Given the description of an element on the screen output the (x, y) to click on. 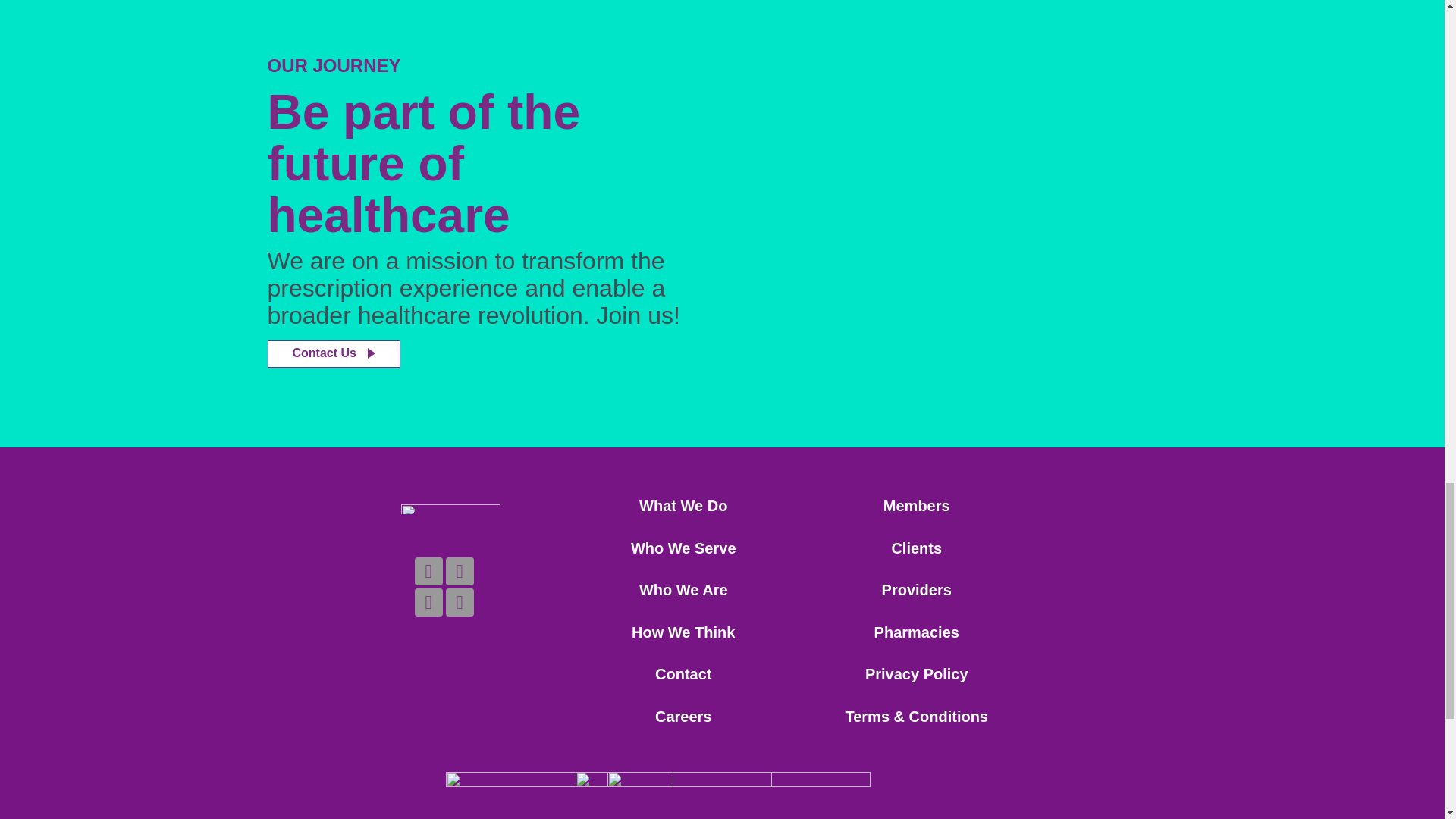
linkedin (428, 570)
Who We Serve (683, 547)
Members Portal (916, 505)
instagram (459, 602)
Contact Us (332, 353)
facebook (459, 570)
What We Do (682, 505)
YouTube (428, 602)
